Given the description of an element on the screen output the (x, y) to click on. 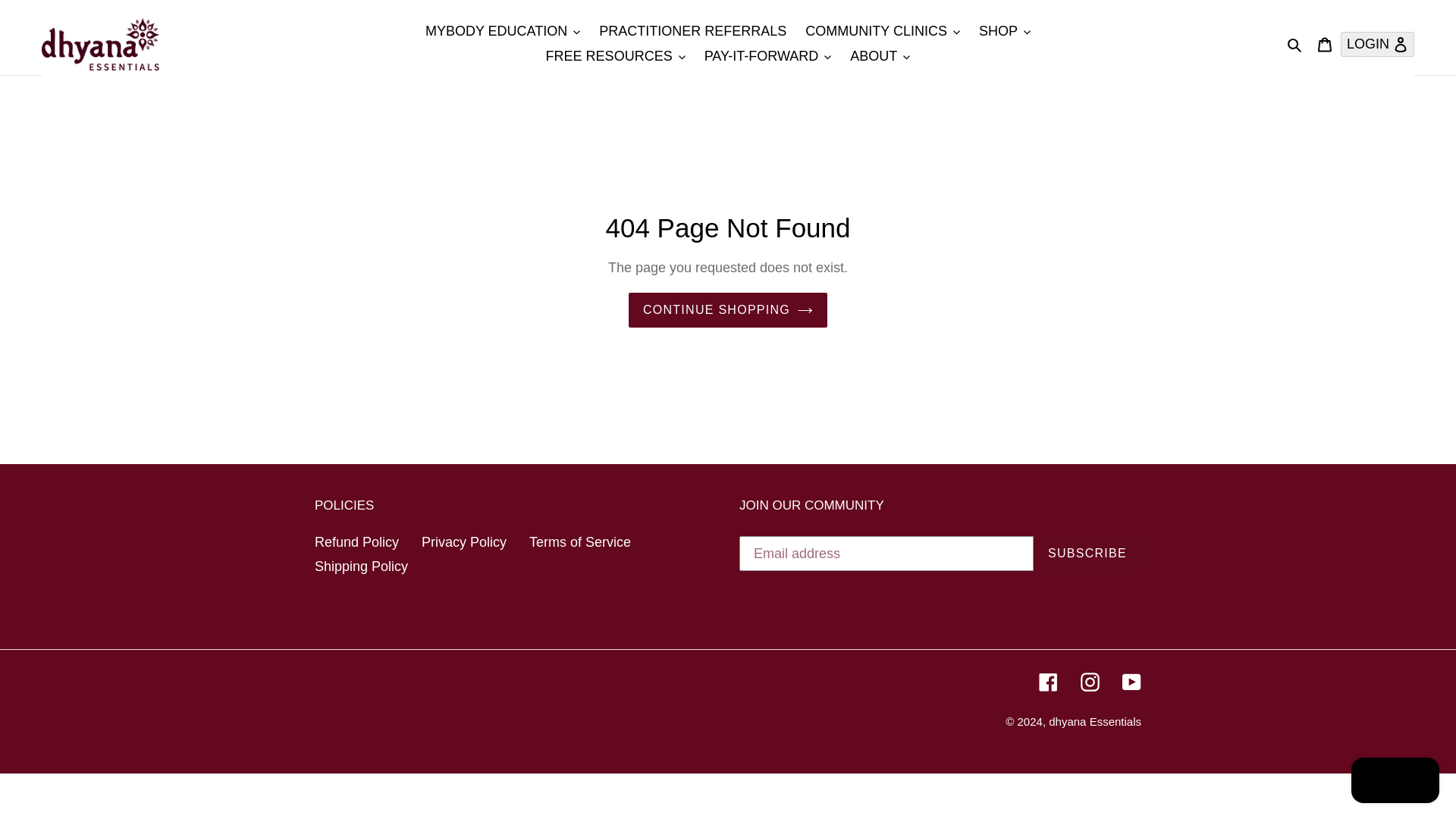
SHOP (1004, 31)
PRACTITIONER REFERRALS (692, 31)
COMMUNITY CLINICS (882, 31)
MYBODY EDUCATION (502, 31)
